Given the description of an element on the screen output the (x, y) to click on. 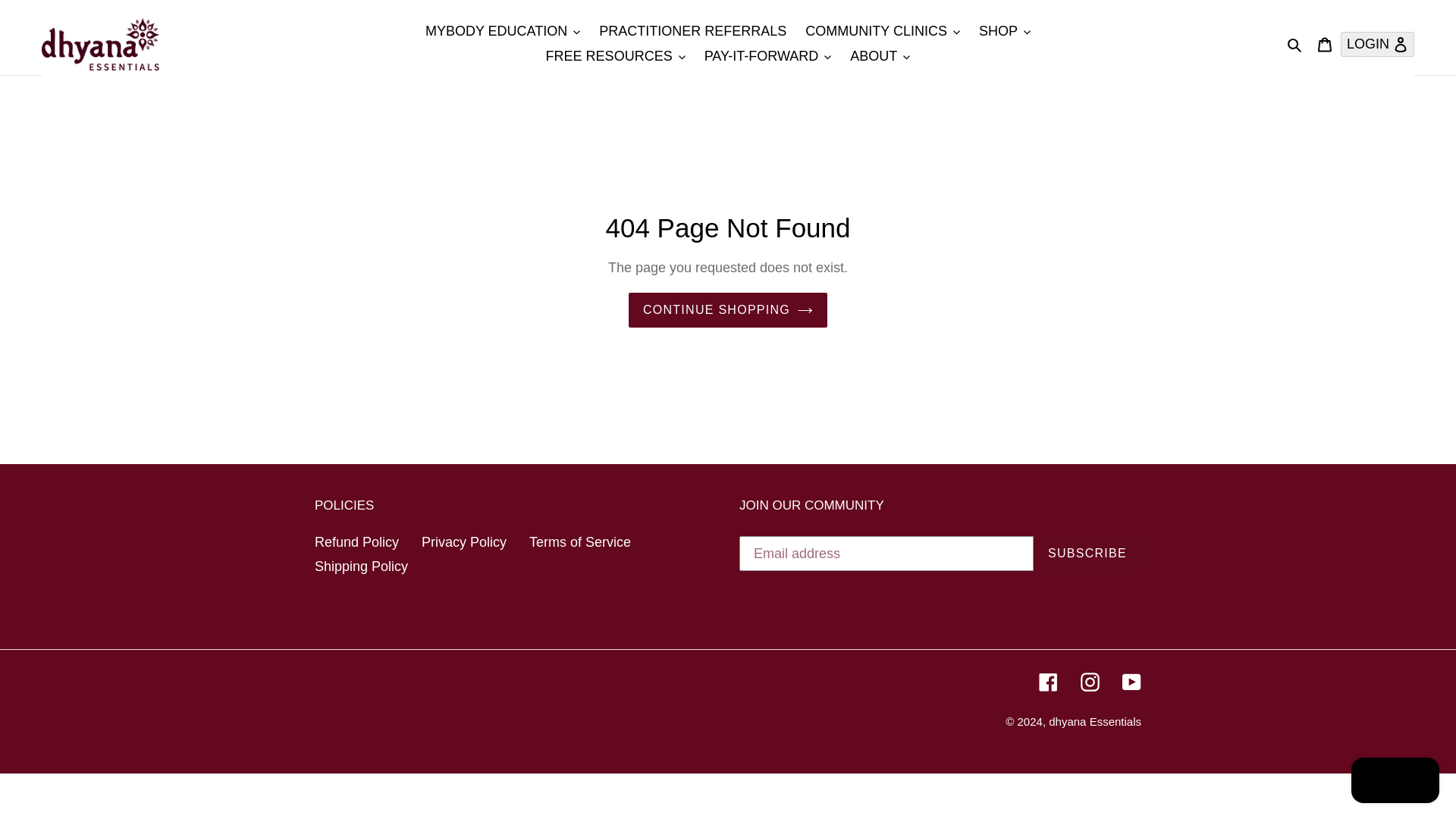
SHOP (1004, 31)
PRACTITIONER REFERRALS (692, 31)
COMMUNITY CLINICS (882, 31)
MYBODY EDUCATION (502, 31)
